Given the description of an element on the screen output the (x, y) to click on. 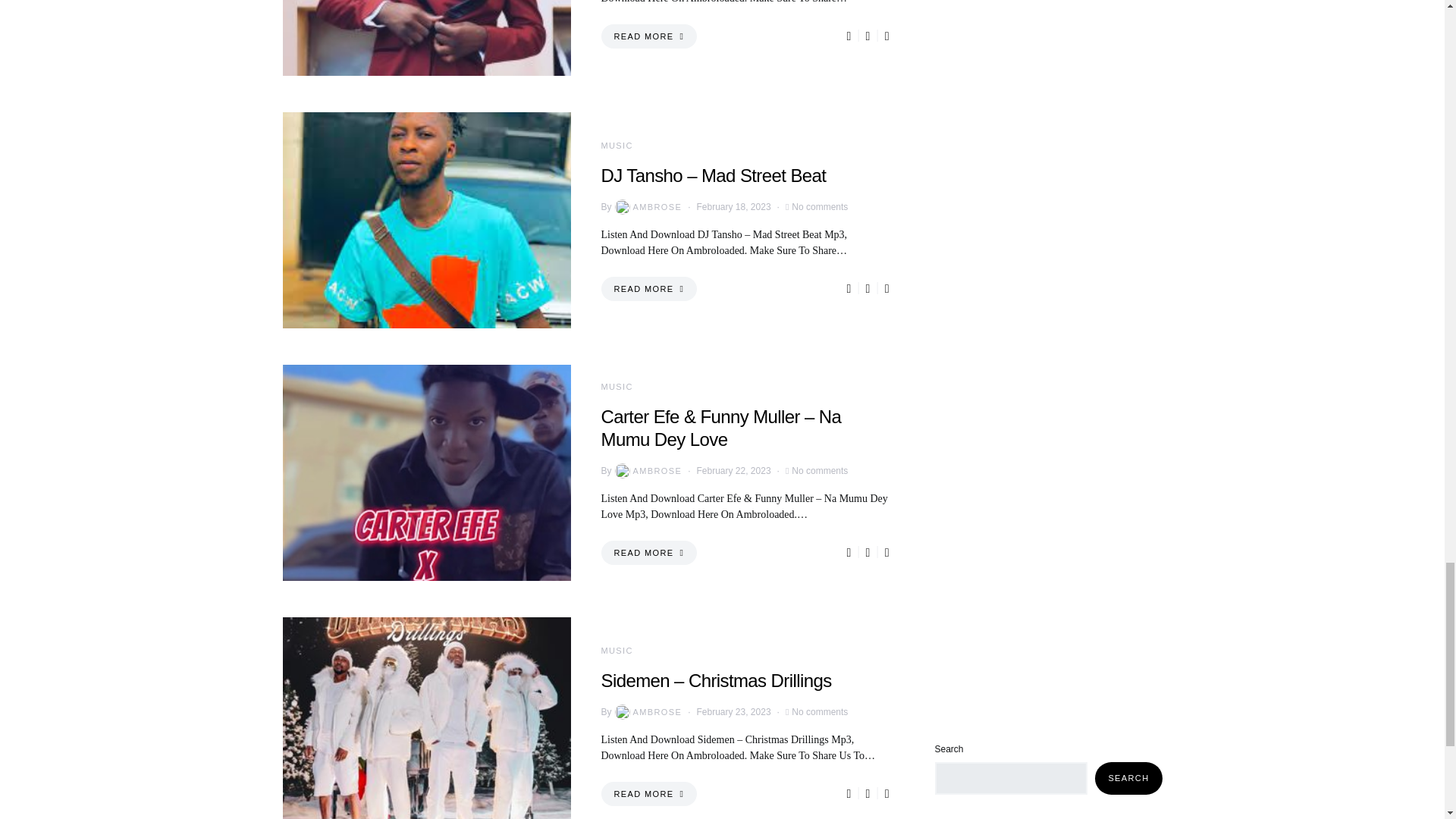
View all posts by Ambrose (646, 206)
View all posts by Ambrose (646, 470)
View all posts by Ambrose (646, 711)
